Given the description of an element on the screen output the (x, y) to click on. 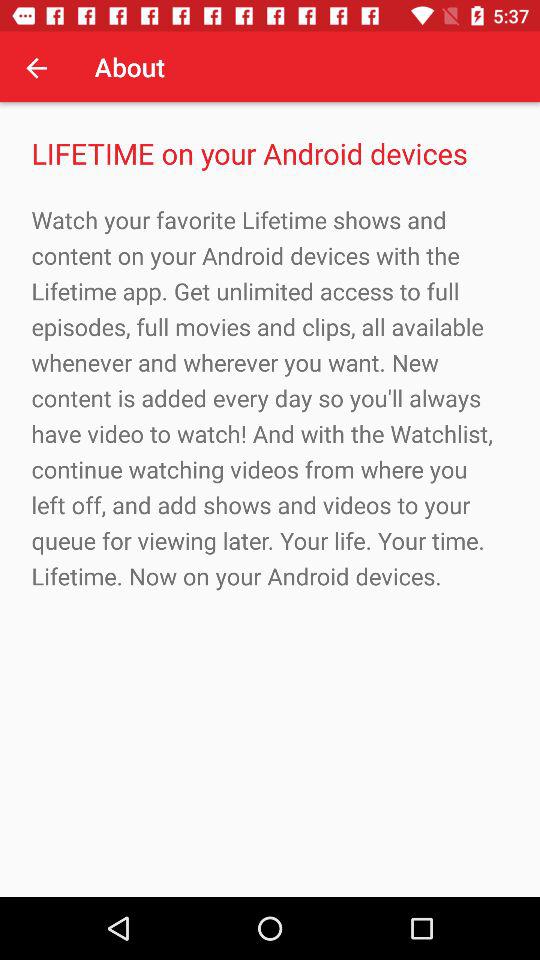
select icon at the center (269, 398)
